Given the description of an element on the screen output the (x, y) to click on. 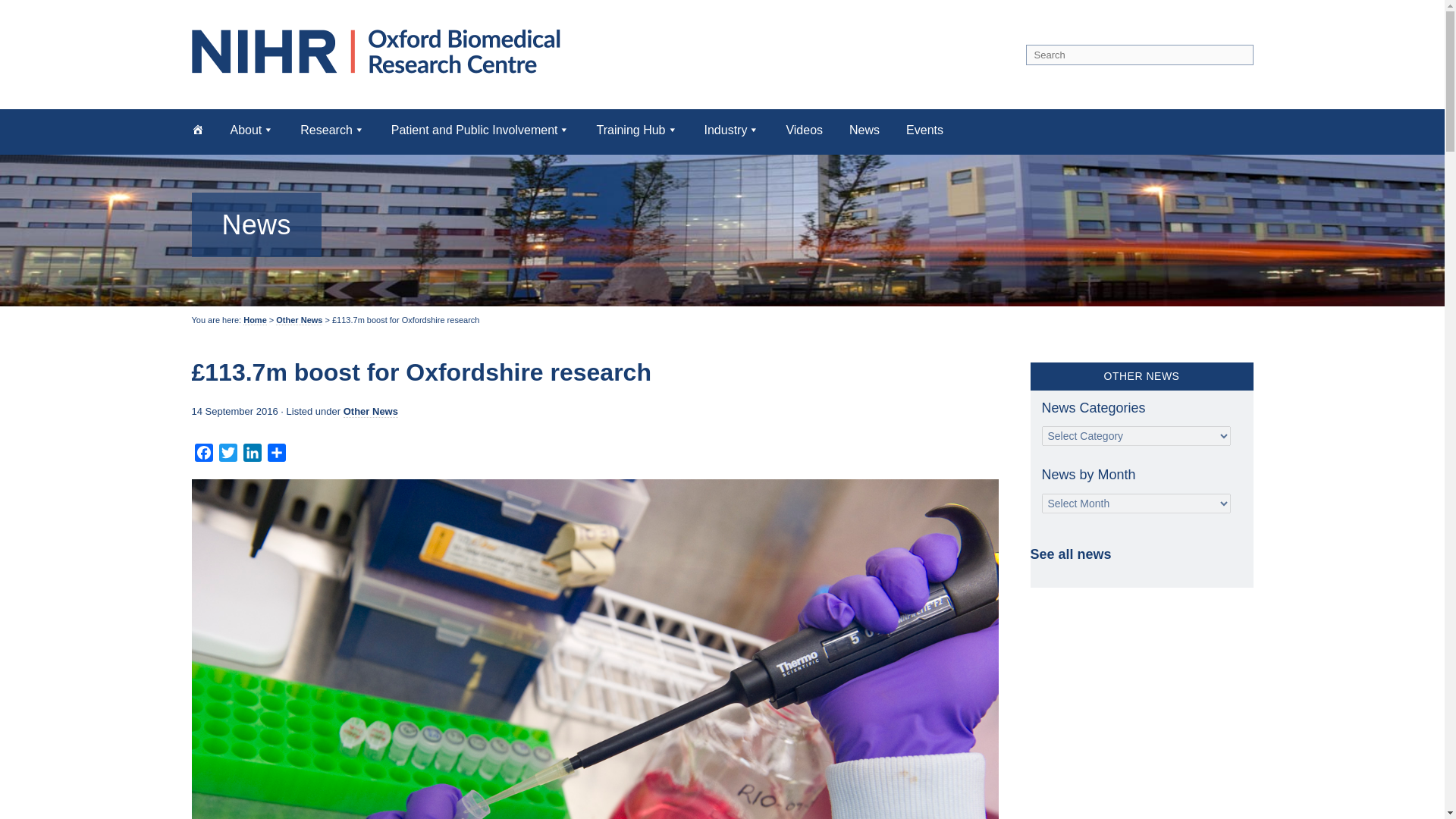
Research (331, 129)
LinkedIn (251, 454)
Patient and Public Involvement (480, 129)
Twitter (227, 454)
NIHR Oxford Biomedical Research Centre (380, 50)
Training Hub (636, 129)
About (252, 129)
Facebook (202, 454)
